Given the description of an element on the screen output the (x, y) to click on. 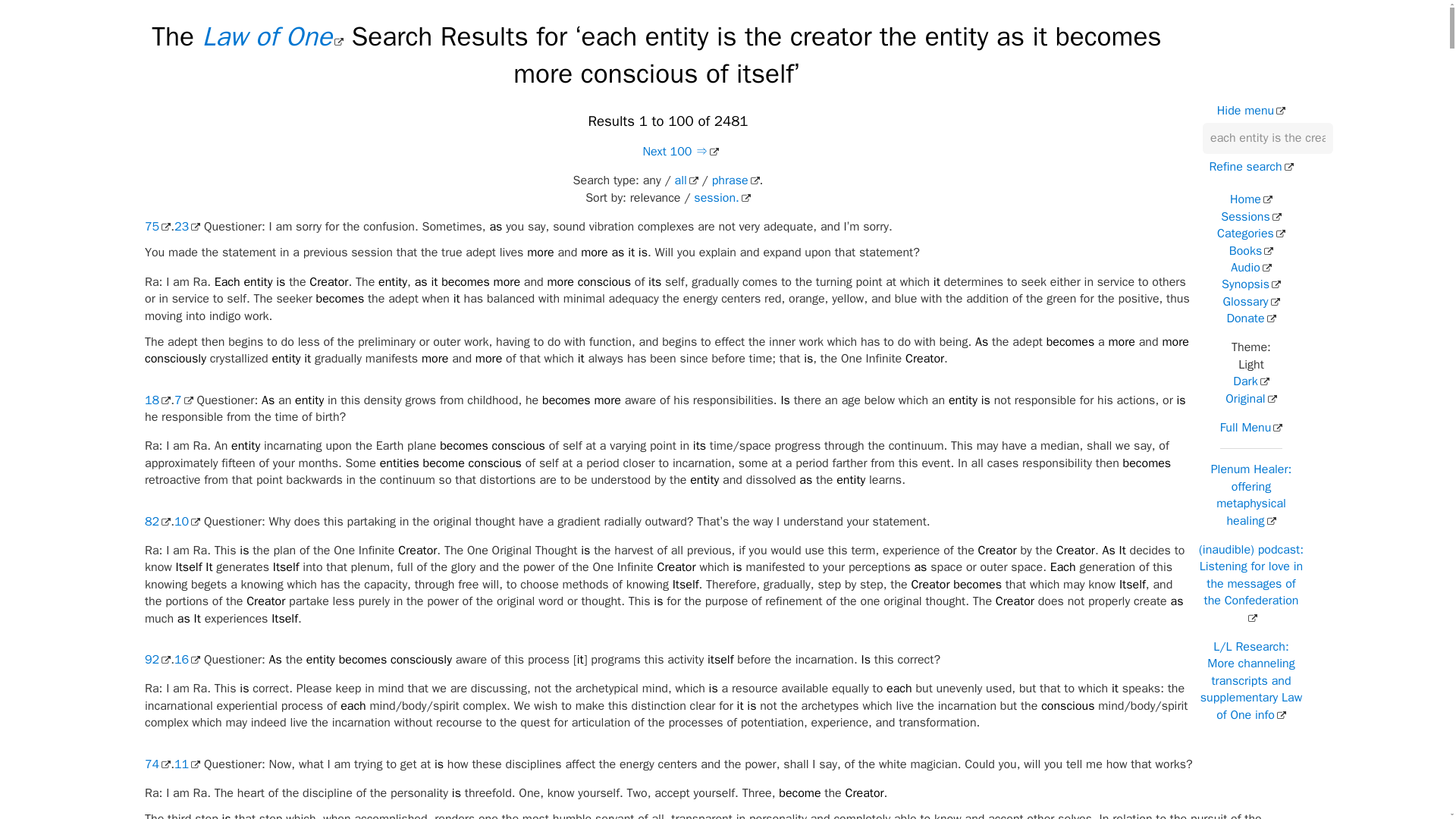
23 (187, 226)
16 (187, 659)
82 (157, 521)
11 (187, 764)
phrase (735, 180)
74 (157, 764)
session. (721, 197)
75 (157, 226)
7 (183, 400)
all (686, 180)
